Given the description of an element on the screen output the (x, y) to click on. 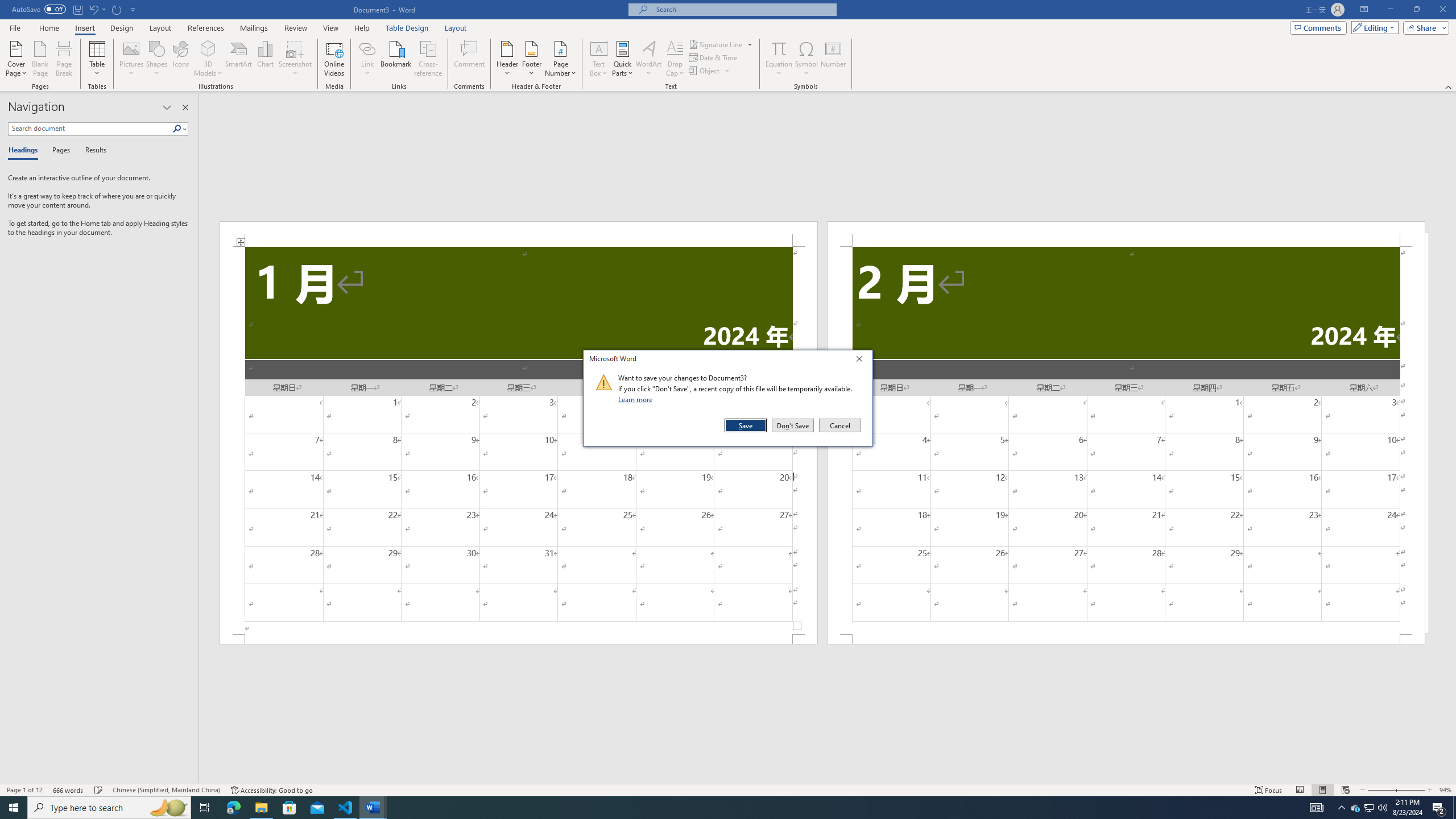
Screenshot (295, 58)
Page Number (560, 58)
Online Videos... (333, 58)
Type here to search (108, 807)
Signature Line (721, 44)
Footer -Section 1- (518, 638)
Table (97, 58)
Footer -Section 2- (1368, 807)
Date & Time... (1126, 638)
File Explorer - 1 running window (714, 56)
Visual Studio Code - 1 running window (261, 807)
Results (345, 807)
